Given the description of an element on the screen output the (x, y) to click on. 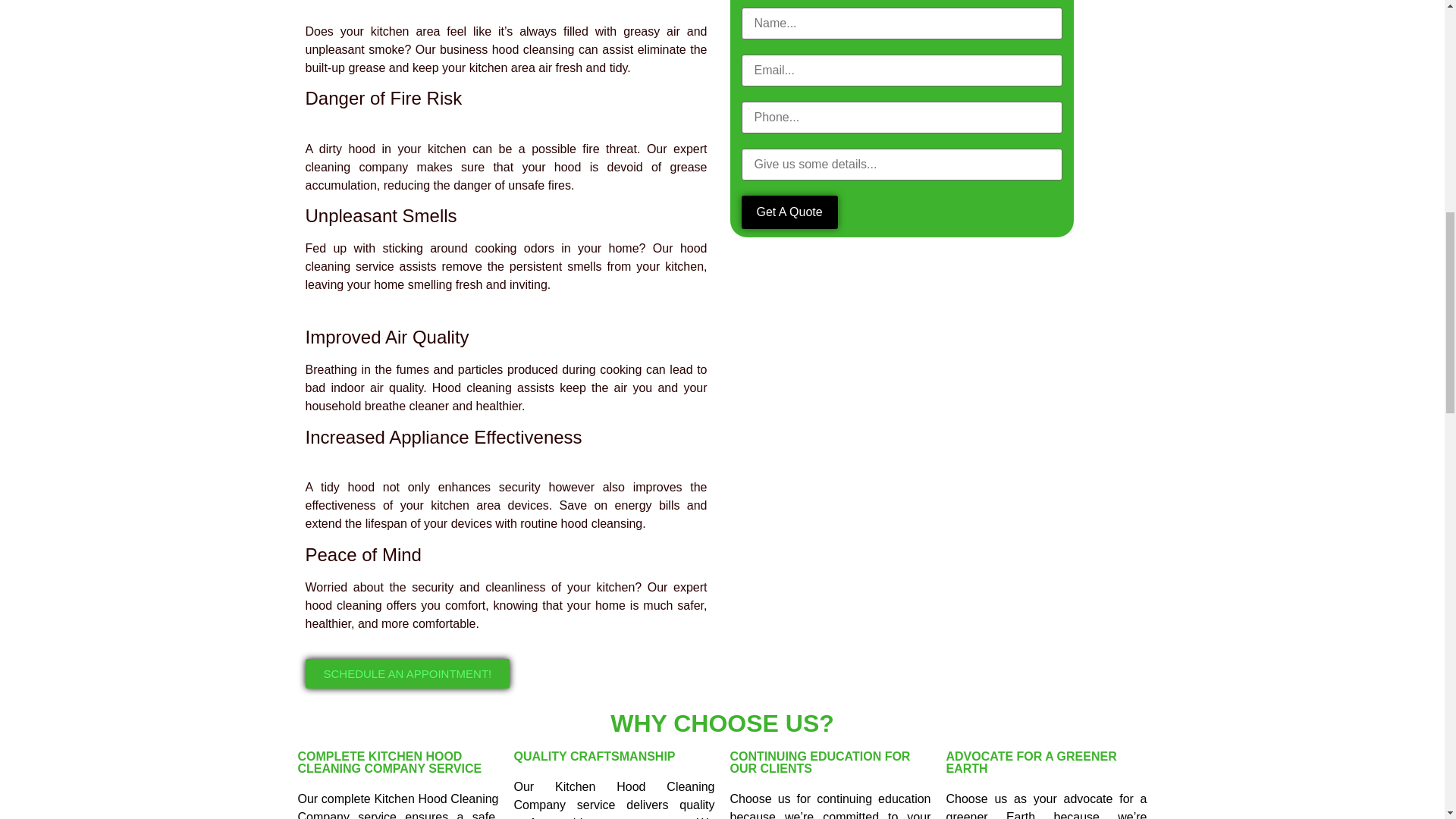
Get A Quote (789, 212)
